Given the description of an element on the screen output the (x, y) to click on. 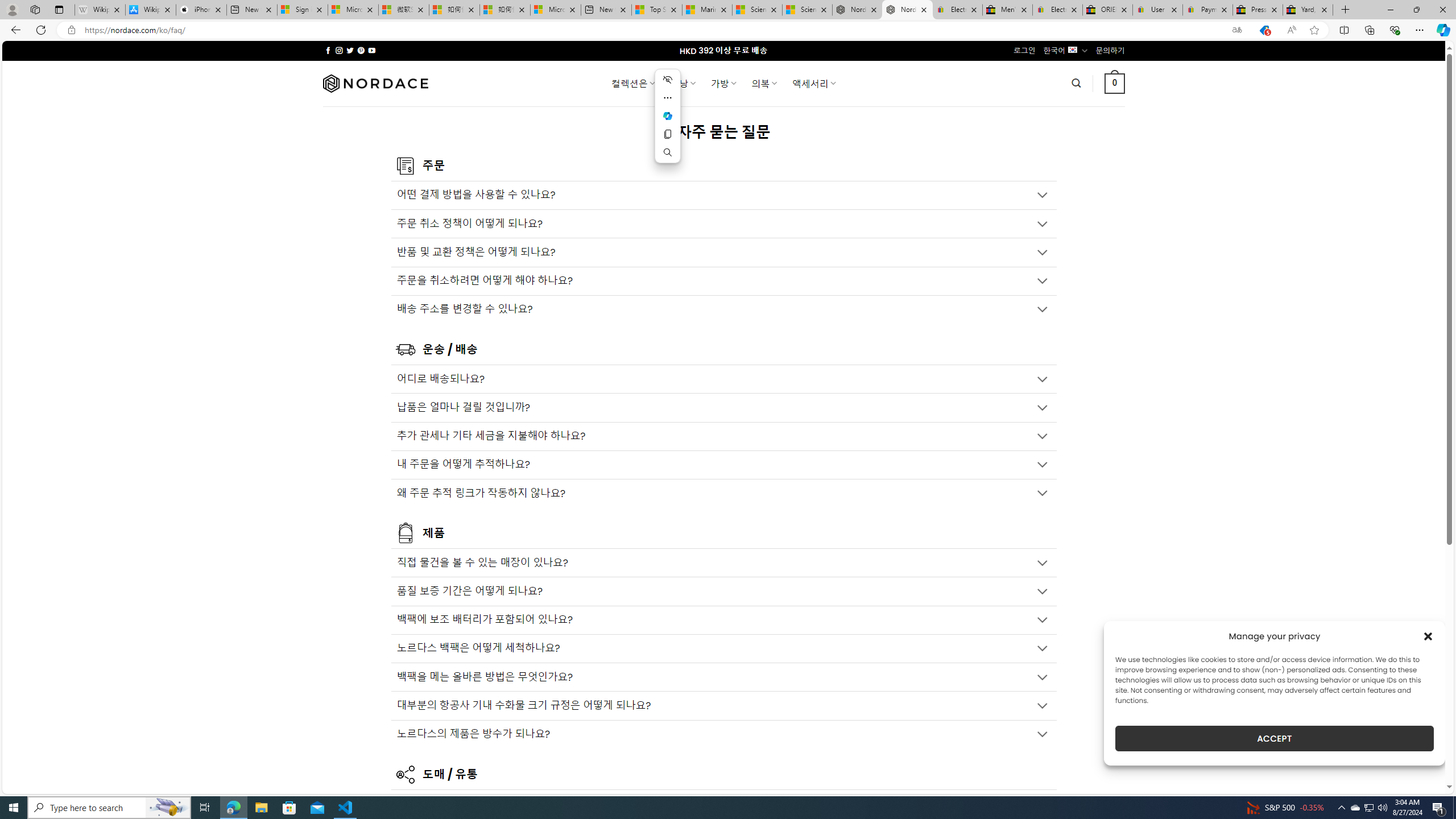
Payments Terms of Use | eBay.com (1207, 9)
Show translate options (1236, 29)
More actions (667, 97)
Follow on Instagram (338, 50)
Class: cmplz-close (1428, 636)
iPhone - Apple (201, 9)
ACCEPT (1274, 738)
